Given the description of an element on the screen output the (x, y) to click on. 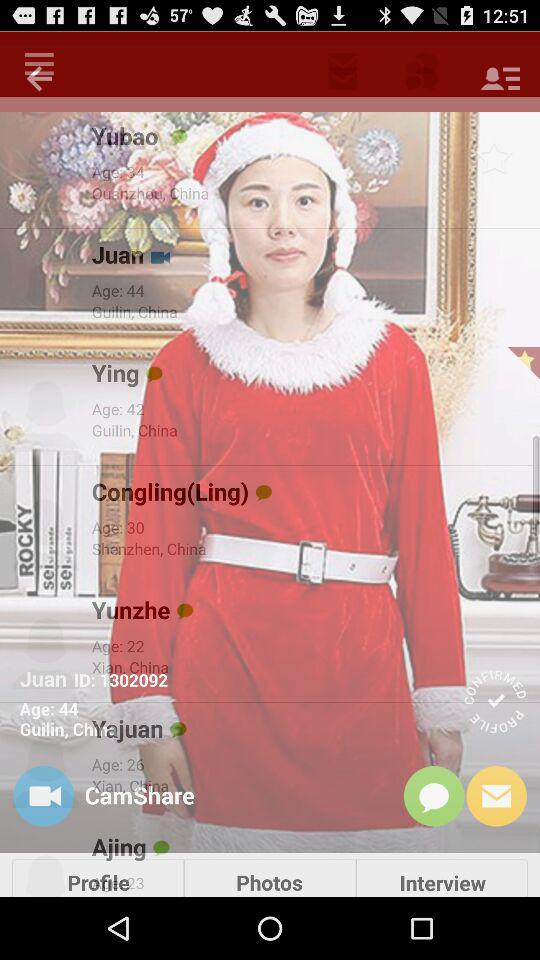
click on the icon right to conglingling (263, 492)
